Given the description of an element on the screen output the (x, y) to click on. 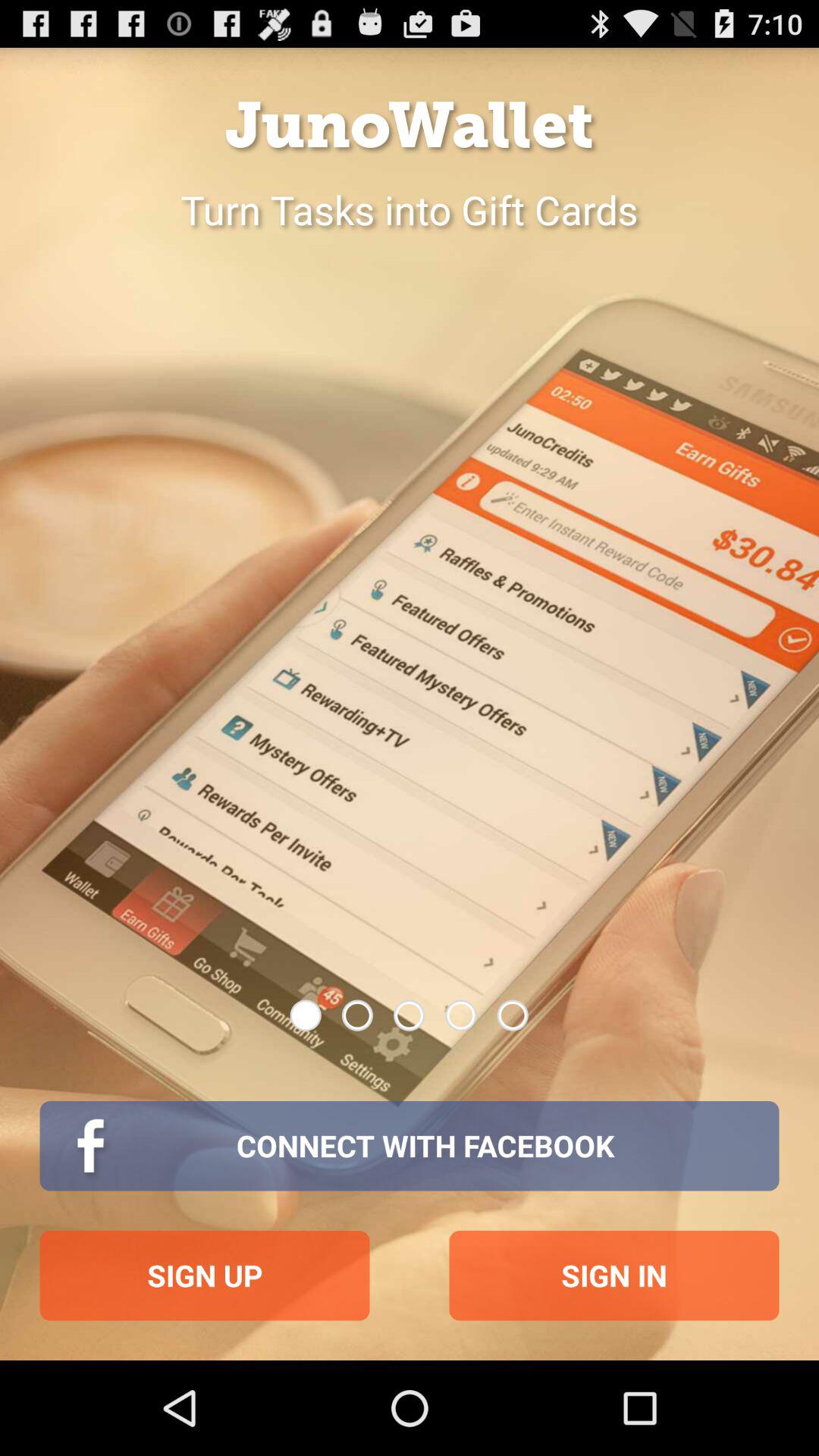
press icon next to sign up button (614, 1275)
